Given the description of an element on the screen output the (x, y) to click on. 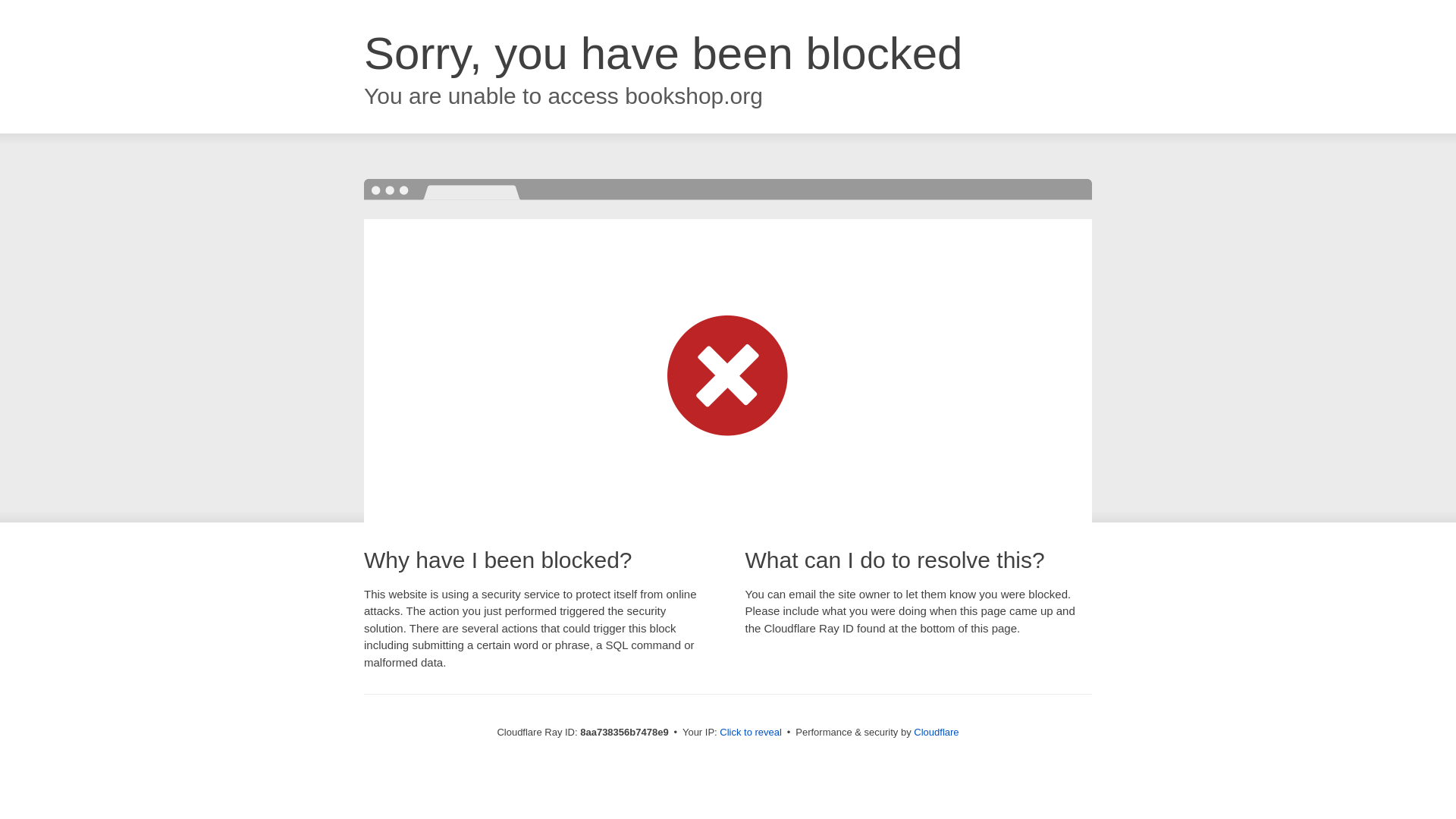
Click to reveal (750, 732)
Cloudflare (936, 731)
